Given the description of an element on the screen output the (x, y) to click on. 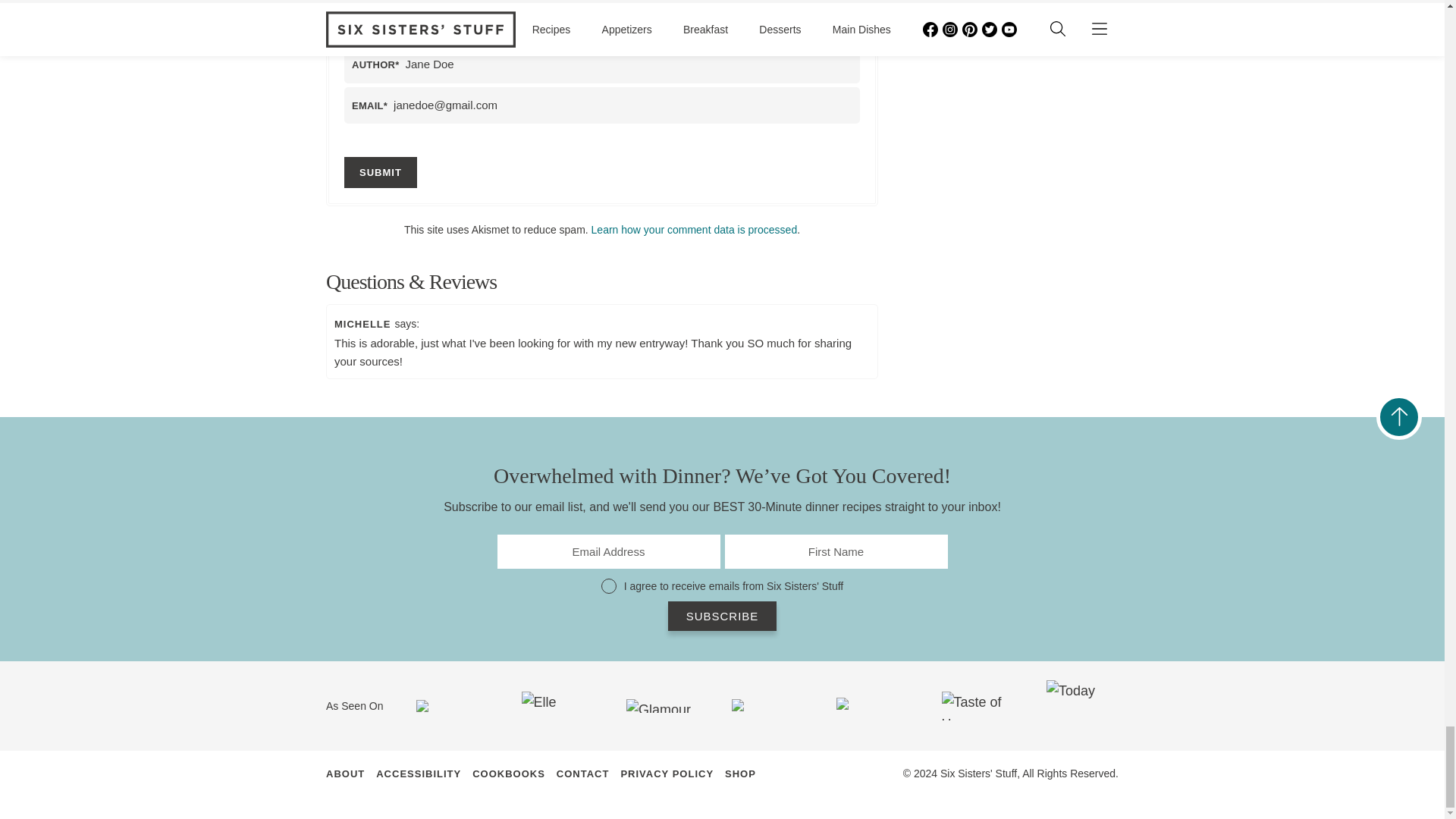
5017270 (608, 585)
Submit (379, 172)
